Given the description of an element on the screen output the (x, y) to click on. 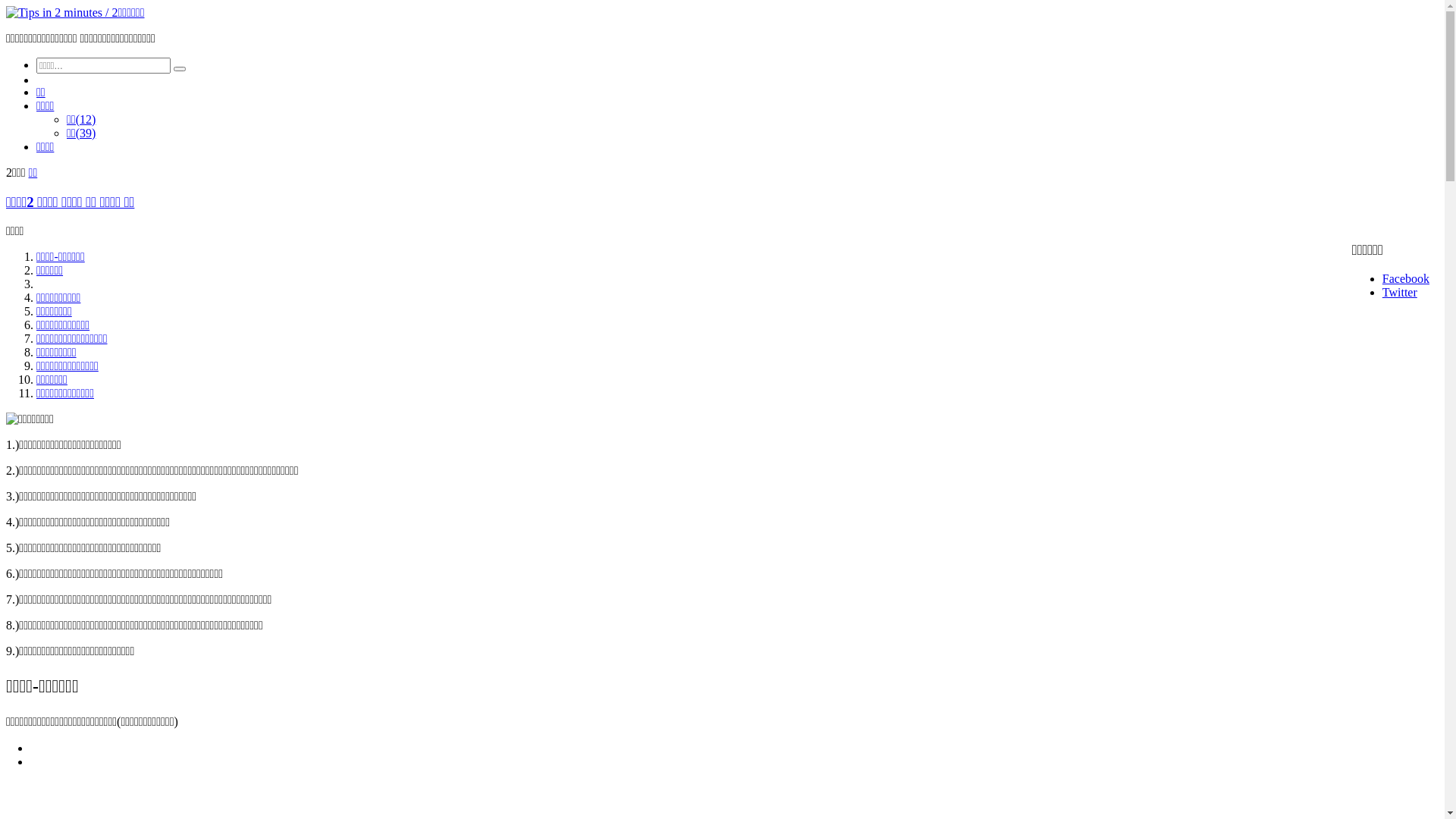
Twitter Element type: text (1399, 291)
Facebook Element type: text (1405, 278)
